Given the description of an element on the screen output the (x, y) to click on. 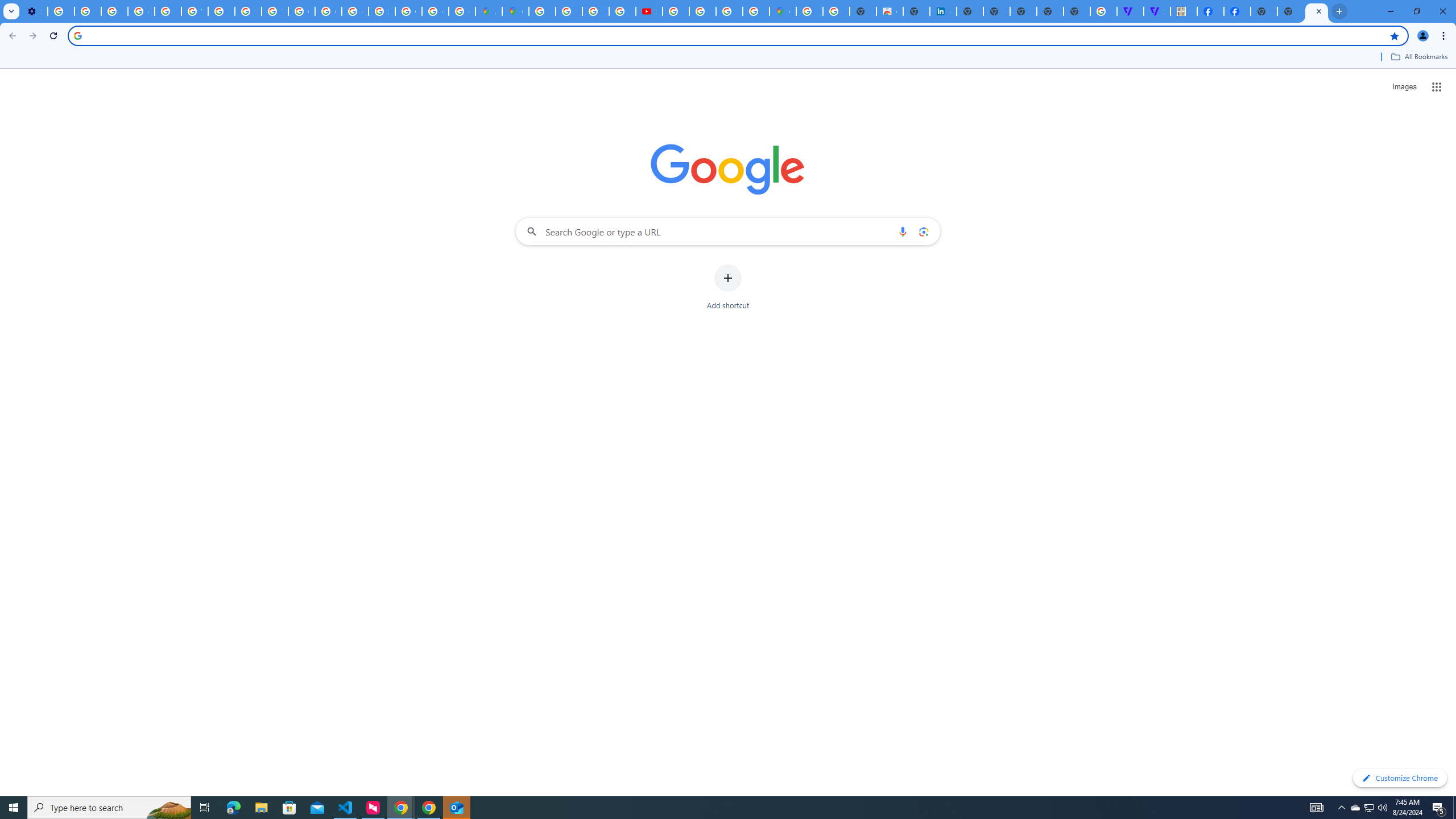
Miley Cyrus | Facebook (1210, 11)
Search Google or type a URL (727, 230)
Subscriptions - YouTube (649, 11)
Privacy Help Center - Policies Help (595, 11)
New Tab (1263, 11)
